Given the description of an element on the screen output the (x, y) to click on. 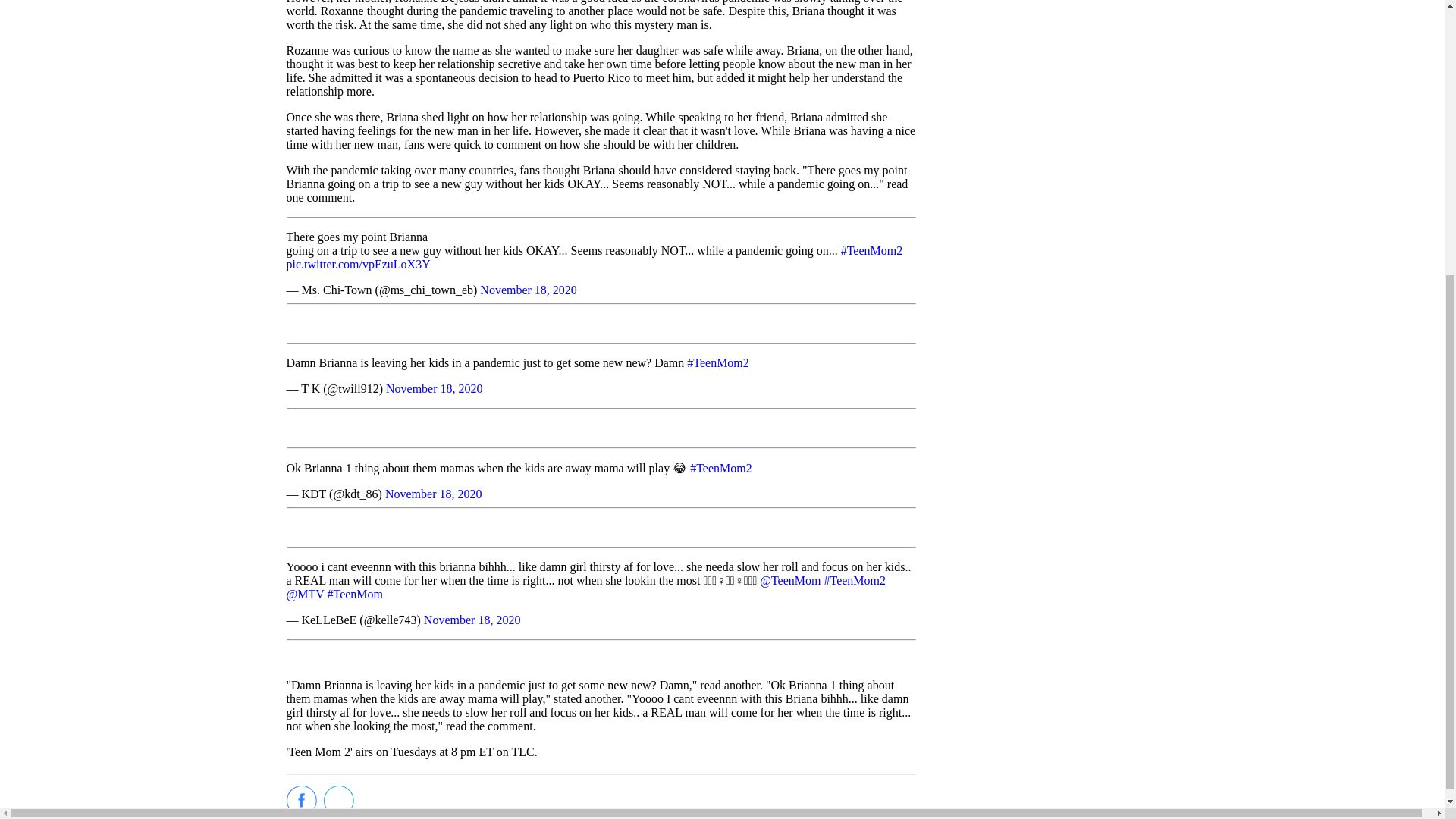
November 18, 2020 (528, 289)
November 18, 2020 (433, 493)
November 18, 2020 (472, 619)
November 18, 2020 (434, 388)
